Given the description of an element on the screen output the (x, y) to click on. 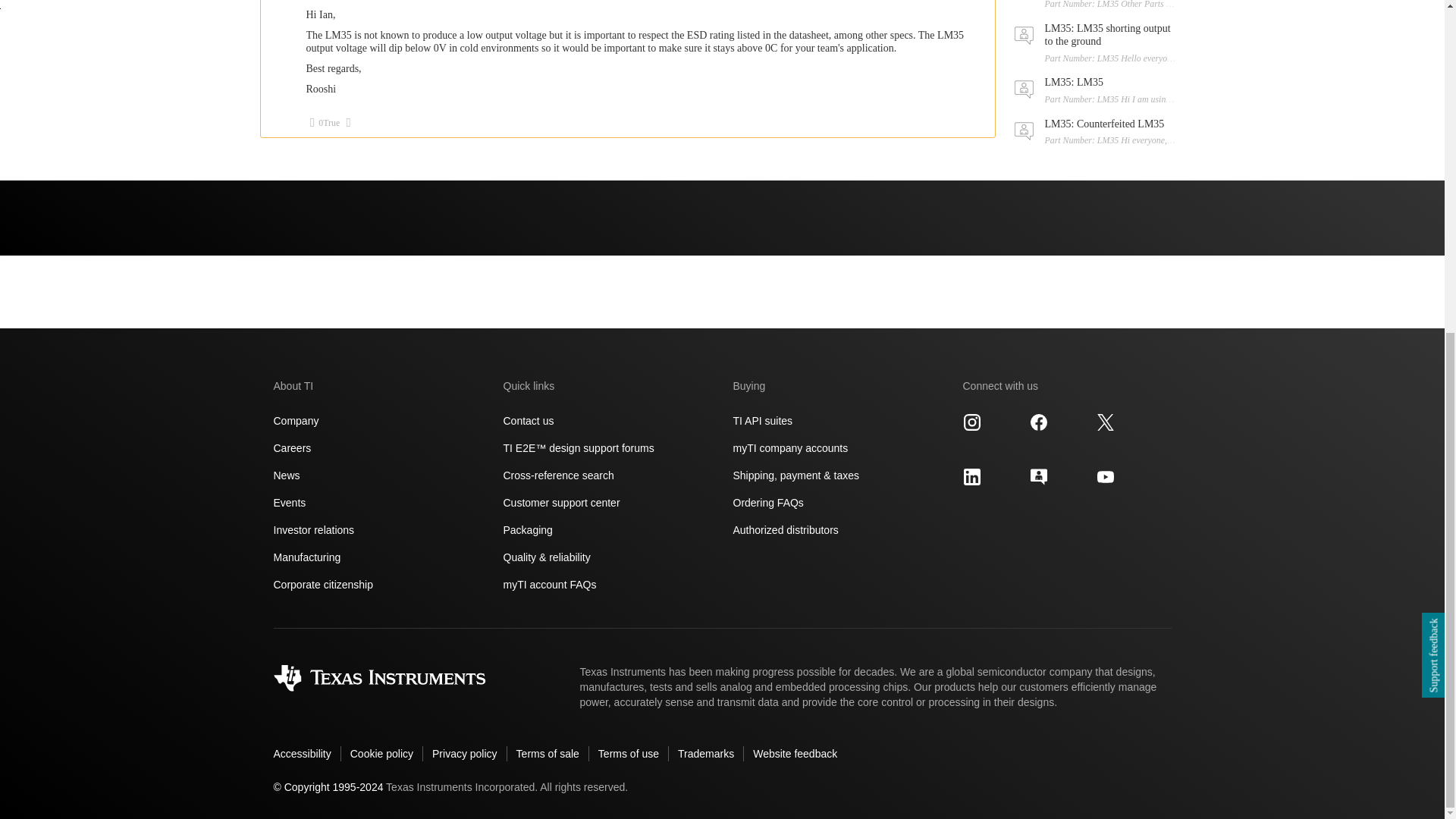
Texas Instruments (378, 678)
twitter (1105, 422)
linkedin (971, 476)
e2e (1038, 476)
facebook (1038, 422)
instagram (971, 422)
youtube (1105, 476)
